Given the description of an element on the screen output the (x, y) to click on. 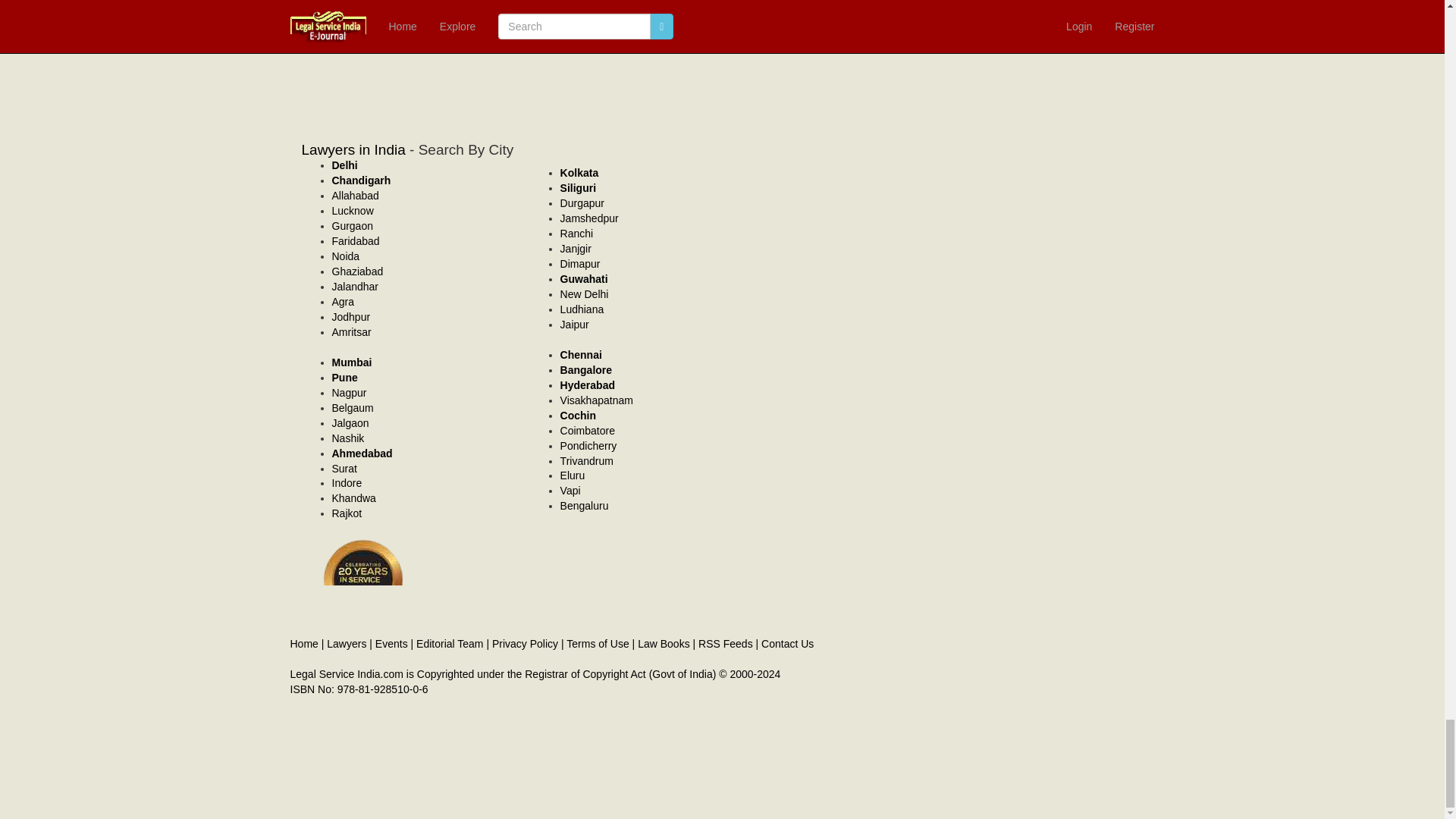
Delhi (344, 164)
Jalandhar (354, 286)
Lawyers in Amritsar (351, 331)
lawyers in Nashik (348, 438)
Ghaziabad (357, 271)
Lucknow (352, 210)
lawyers in Jalgaon (350, 422)
Lawyers in India (353, 149)
Gurgaon (351, 225)
lawyers in Pune (344, 377)
